Given the description of an element on the screen output the (x, y) to click on. 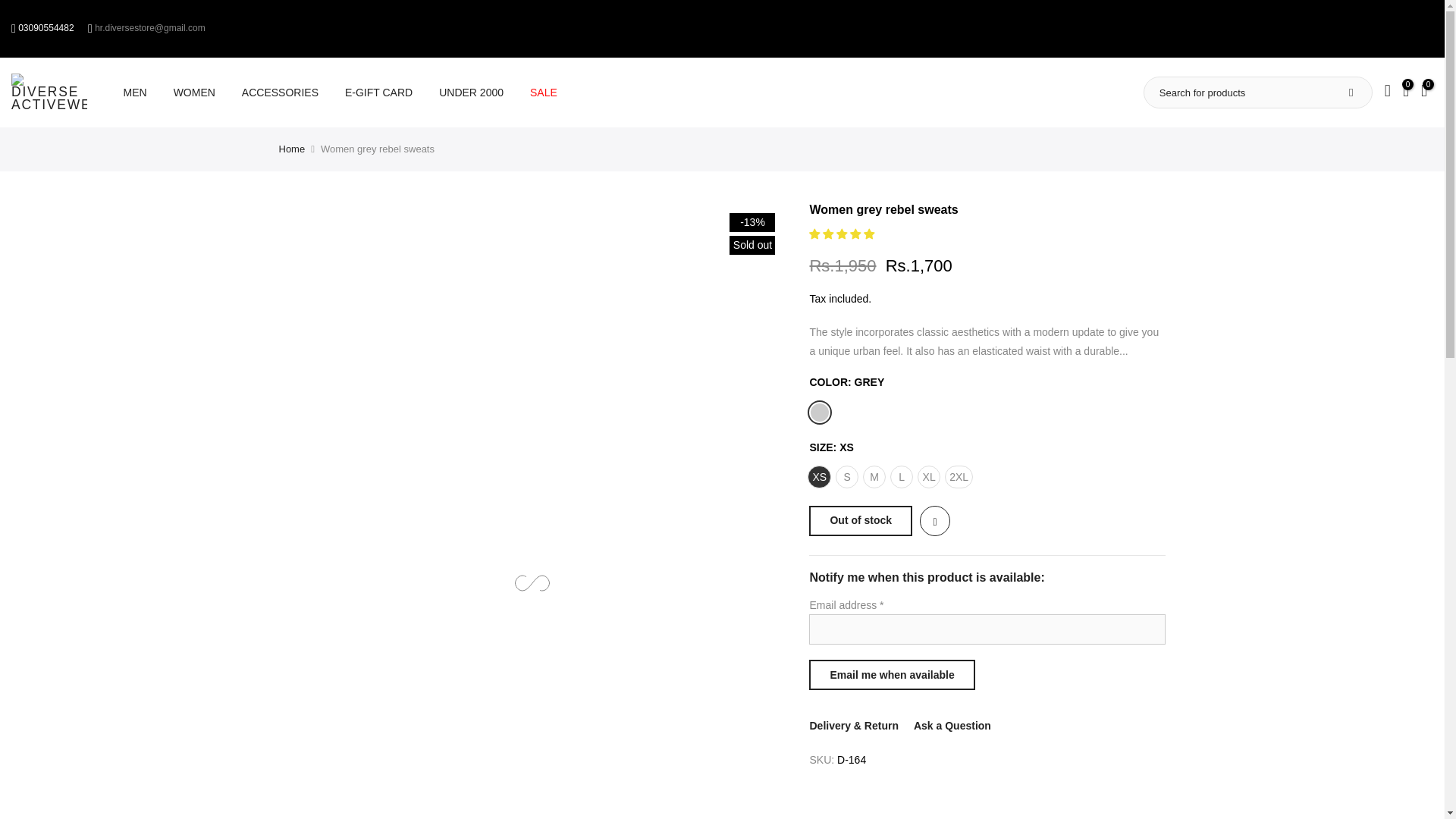
Ask a Question (952, 725)
Email me when available (891, 675)
WOMEN (194, 92)
Out of stock (860, 521)
ACCESSORIES (279, 92)
03090554482 (46, 27)
Email me when available (891, 675)
0 (1405, 92)
Home (292, 149)
E-GIFT CARD (378, 92)
UNDER 2000 (471, 92)
